Given the description of an element on the screen output the (x, y) to click on. 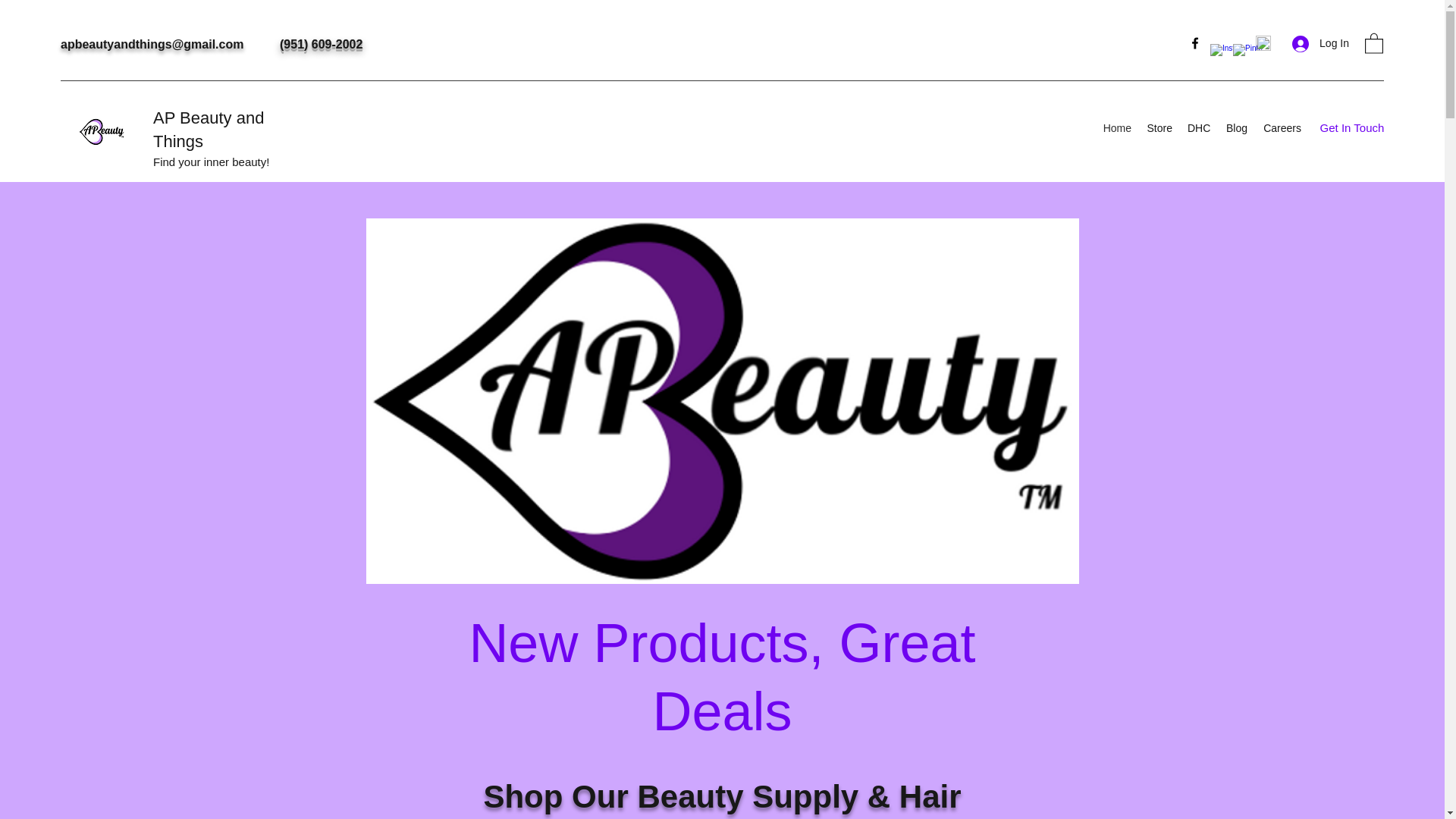
Store (1158, 128)
Careers (1281, 128)
Log In (1320, 43)
AP Beauty and Things (207, 129)
DHC (1198, 128)
Home (1116, 128)
Blog (1236, 128)
